Given the description of an element on the screen output the (x, y) to click on. 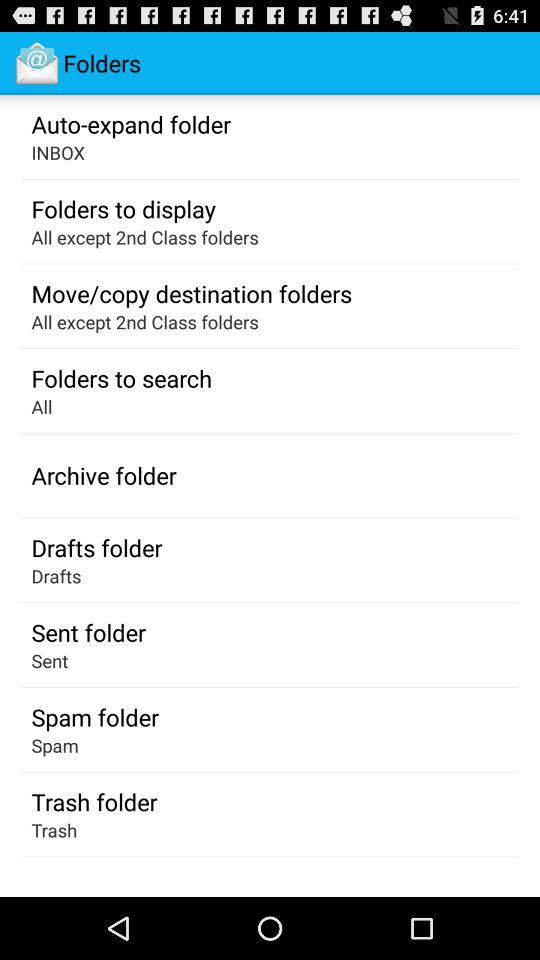
click the item above inbox icon (130, 123)
